Given the description of an element on the screen output the (x, y) to click on. 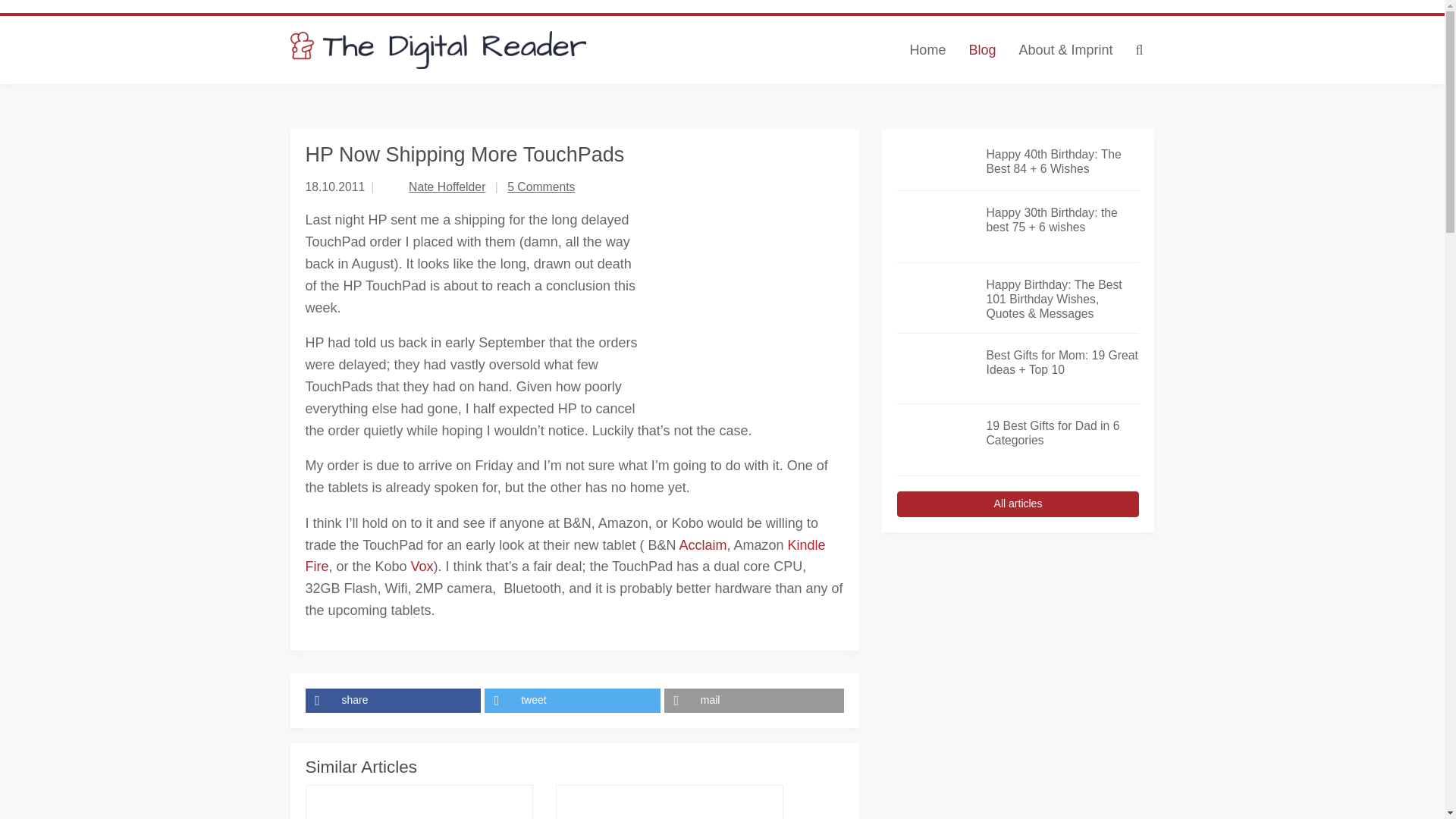
Acclaim (702, 544)
Home (927, 49)
Kindle Fire (564, 555)
5 Comments (540, 186)
Nate Hoffelder (446, 186)
share (394, 700)
The Digital Reader (437, 49)
Vox (421, 566)
mail (753, 700)
tweet (573, 700)
